Given the description of an element on the screen output the (x, y) to click on. 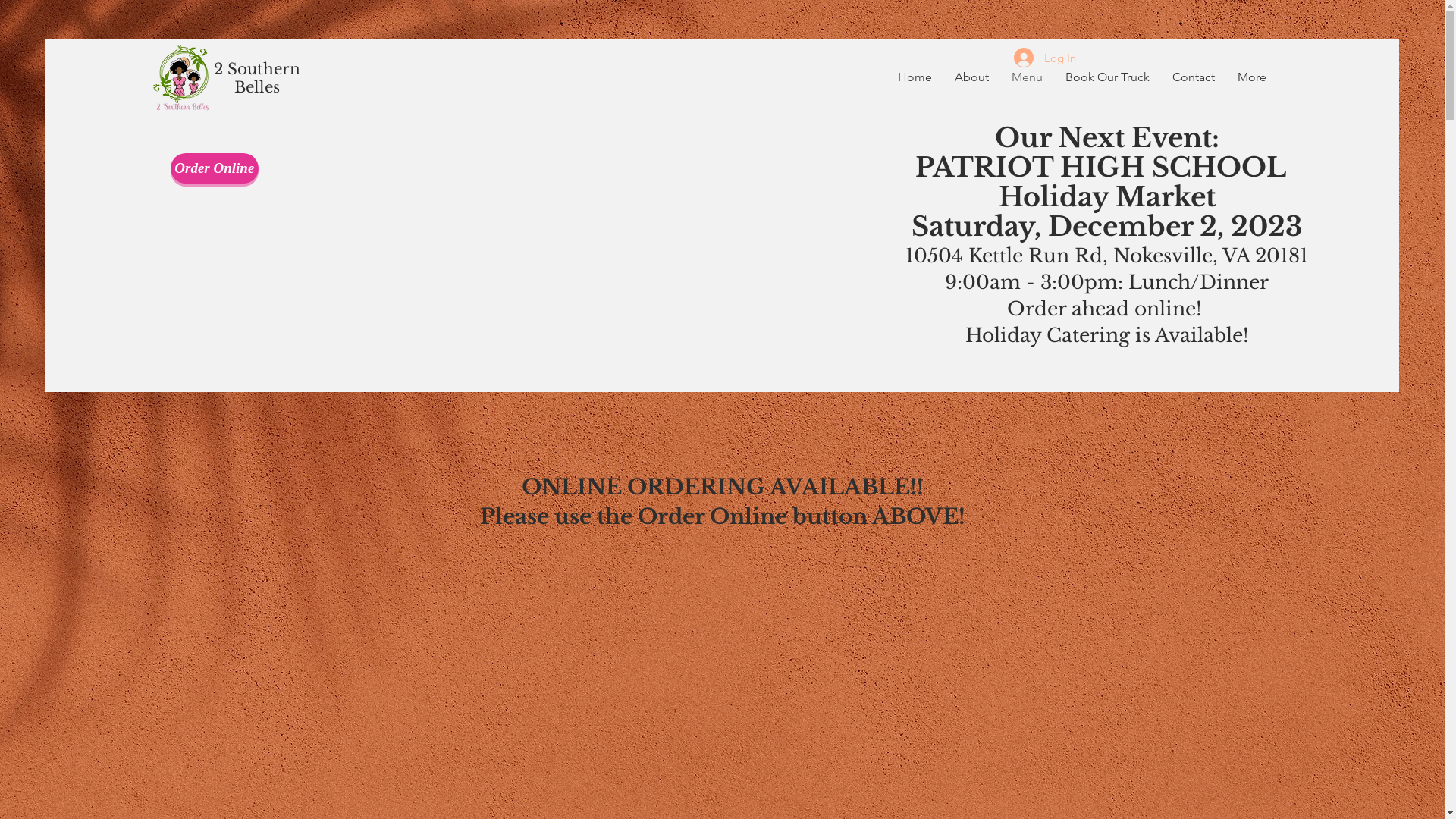
2 Southern Belles Element type: text (256, 77)
Book Our Truck Element type: text (1107, 77)
Home Element type: text (914, 77)
Contact Element type: text (1193, 77)
Order Online Element type: text (214, 168)
Log In Element type: text (1043, 57)
Menu Element type: text (1027, 77)
About Element type: text (971, 77)
